Given the description of an element on the screen output the (x, y) to click on. 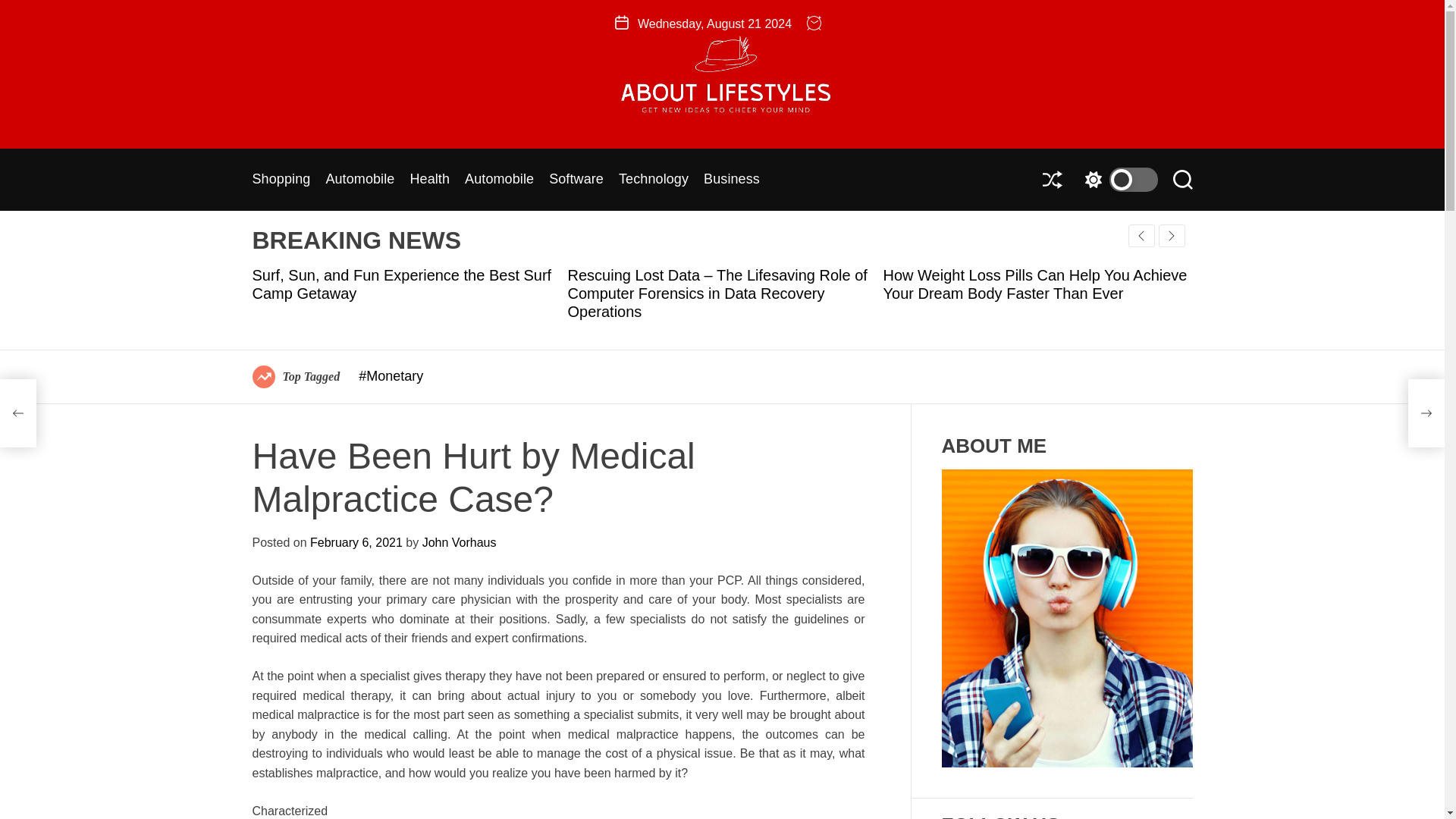
Automobile (359, 179)
Shopping (280, 179)
Surf, Sun, and Fun Experience the Best Surf Camp Getaway (401, 284)
Business (731, 179)
Health (429, 179)
Switch color mode (1117, 179)
Technology (653, 179)
February 6, 2021 (356, 542)
Automobile (499, 179)
